Given the description of an element on the screen output the (x, y) to click on. 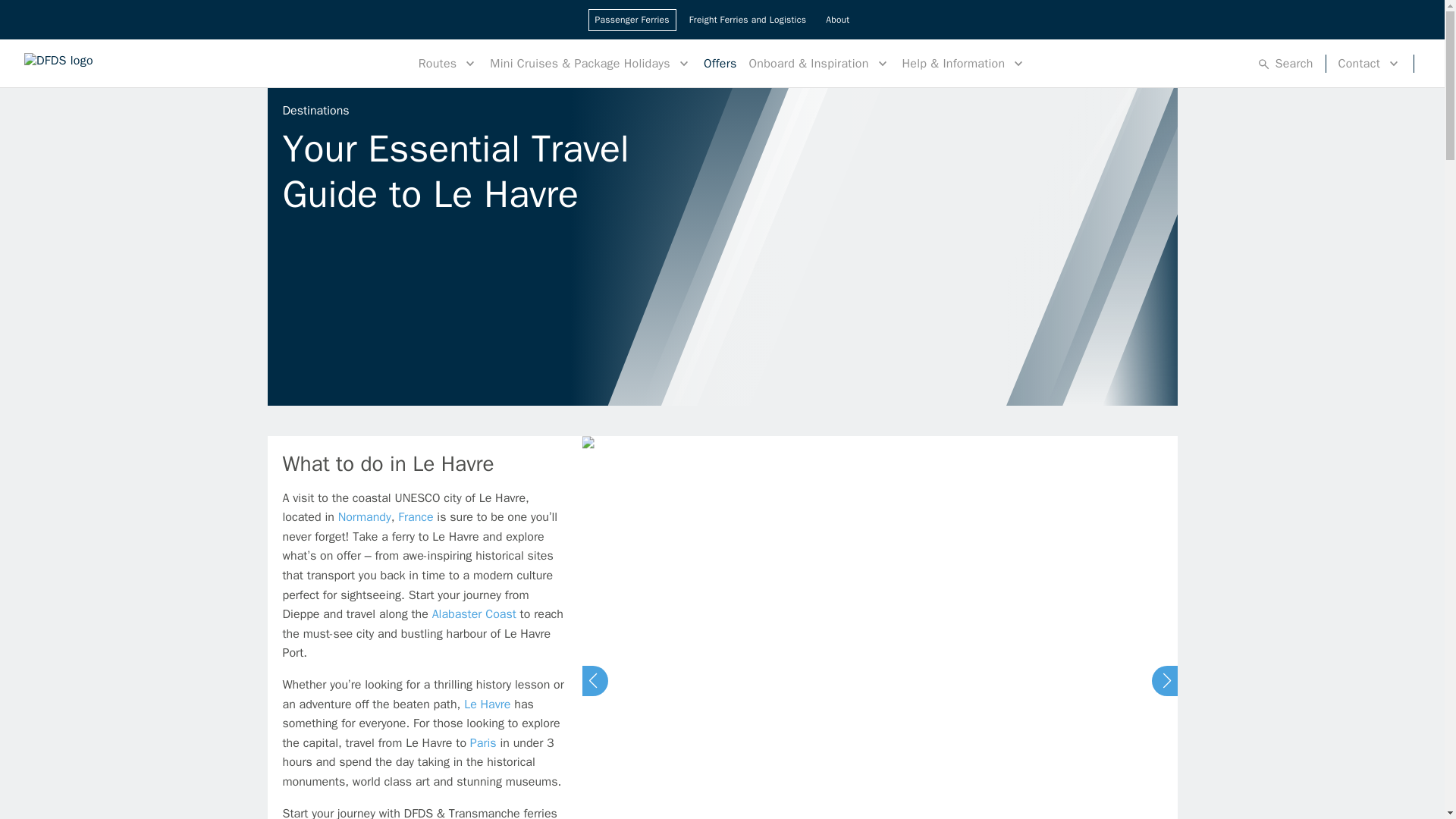
Footbridge in Le Havre, Seine-Maritime  (285, 95)
Passenger Ferries (632, 20)
About (837, 20)
null (487, 703)
Freight Ferries and Logistics (747, 20)
null (483, 743)
Le Havre city centre  (624, 443)
Offers (719, 62)
Routes (448, 62)
null (474, 613)
